Given the description of an element on the screen output the (x, y) to click on. 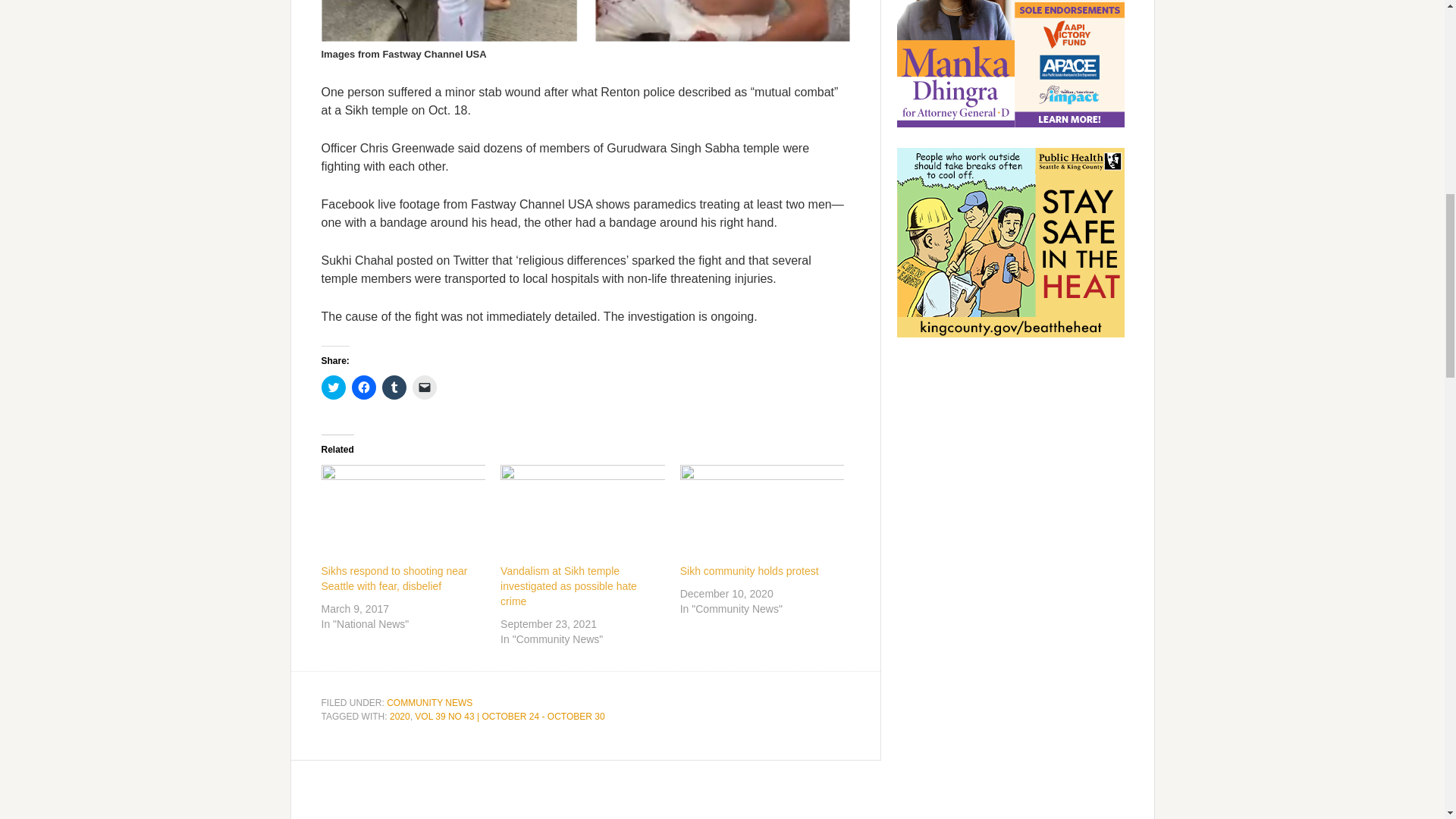
Click to share on Tumblr (393, 387)
Sikhs respond to shooting near Seattle with fear, disbelief (394, 578)
Sikhs respond to shooting near Seattle with fear, disbelief (403, 511)
Sikh community holds protest (748, 571)
Vandalism at Sikh temple investigated as possible hate crime (568, 586)
Vandalism at Sikh temple investigated as possible hate crime (582, 511)
Click to share on Facebook (363, 387)
Sikh community holds protest (761, 511)
Click to share on Twitter (333, 387)
Click to email a link to a friend (424, 387)
